Given the description of an element on the screen output the (x, y) to click on. 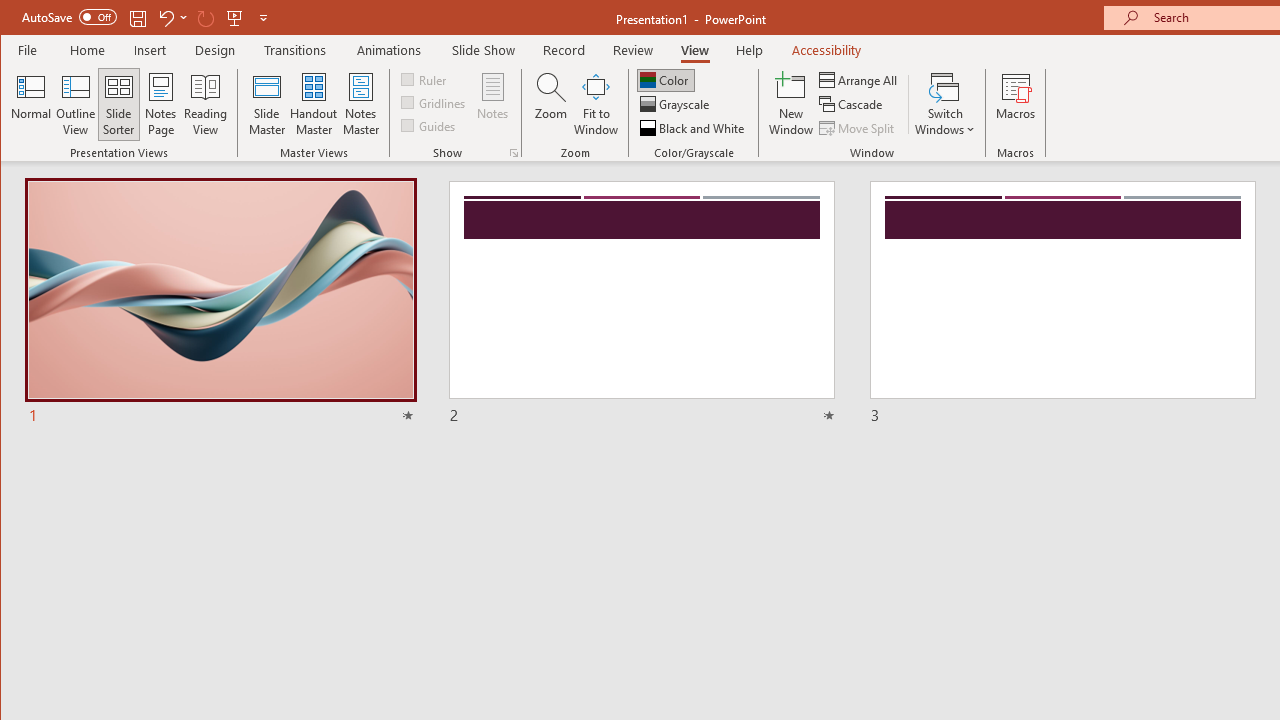
Arrange All (859, 80)
Cascade (852, 103)
Gridlines (435, 101)
New Window (791, 104)
Color (666, 80)
Switch Windows (944, 104)
Handout Master (314, 104)
